Given the description of an element on the screen output the (x, y) to click on. 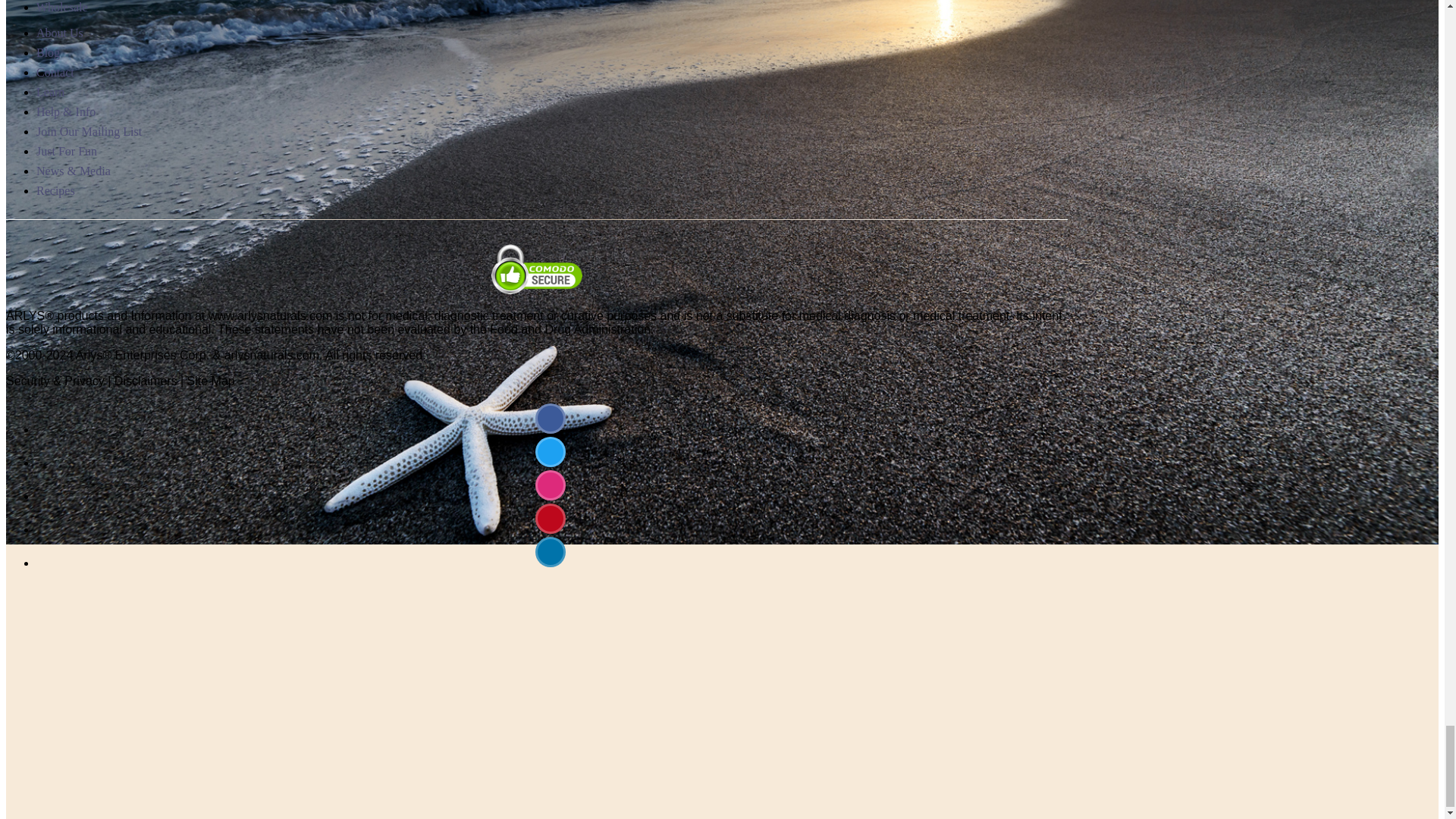
Facebook (550, 418)
Blog (550, 552)
Pintrest (550, 518)
